Given the description of an element on the screen output the (x, y) to click on. 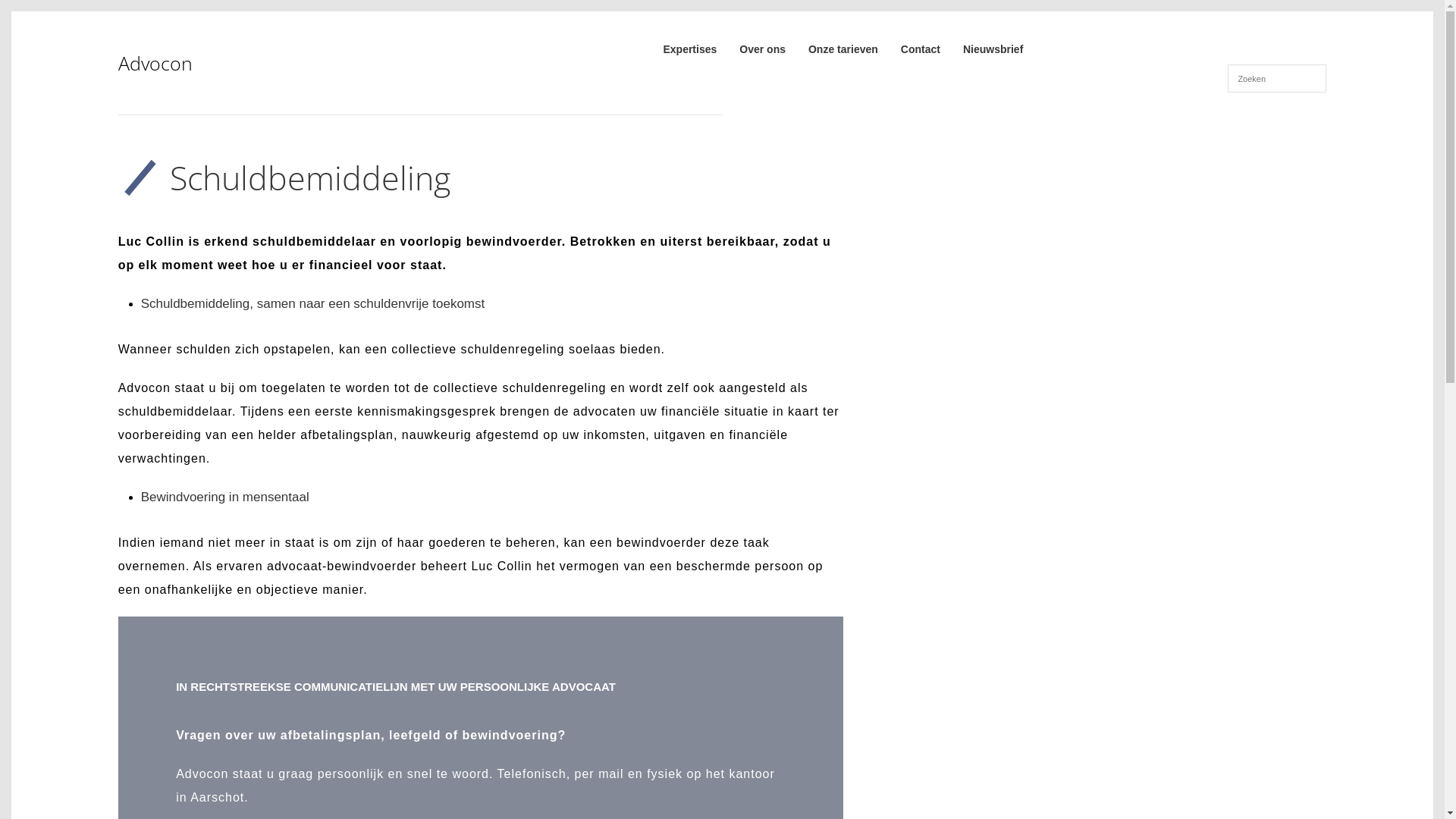
Onze tarieven Element type: text (843, 48)
Contact Element type: text (920, 48)
Over ons Element type: text (762, 48)
Expertises Element type: text (689, 48)
Nieuwsbrief Element type: text (992, 48)
Advocon Element type: text (239, 63)
